Given the description of an element on the screen output the (x, y) to click on. 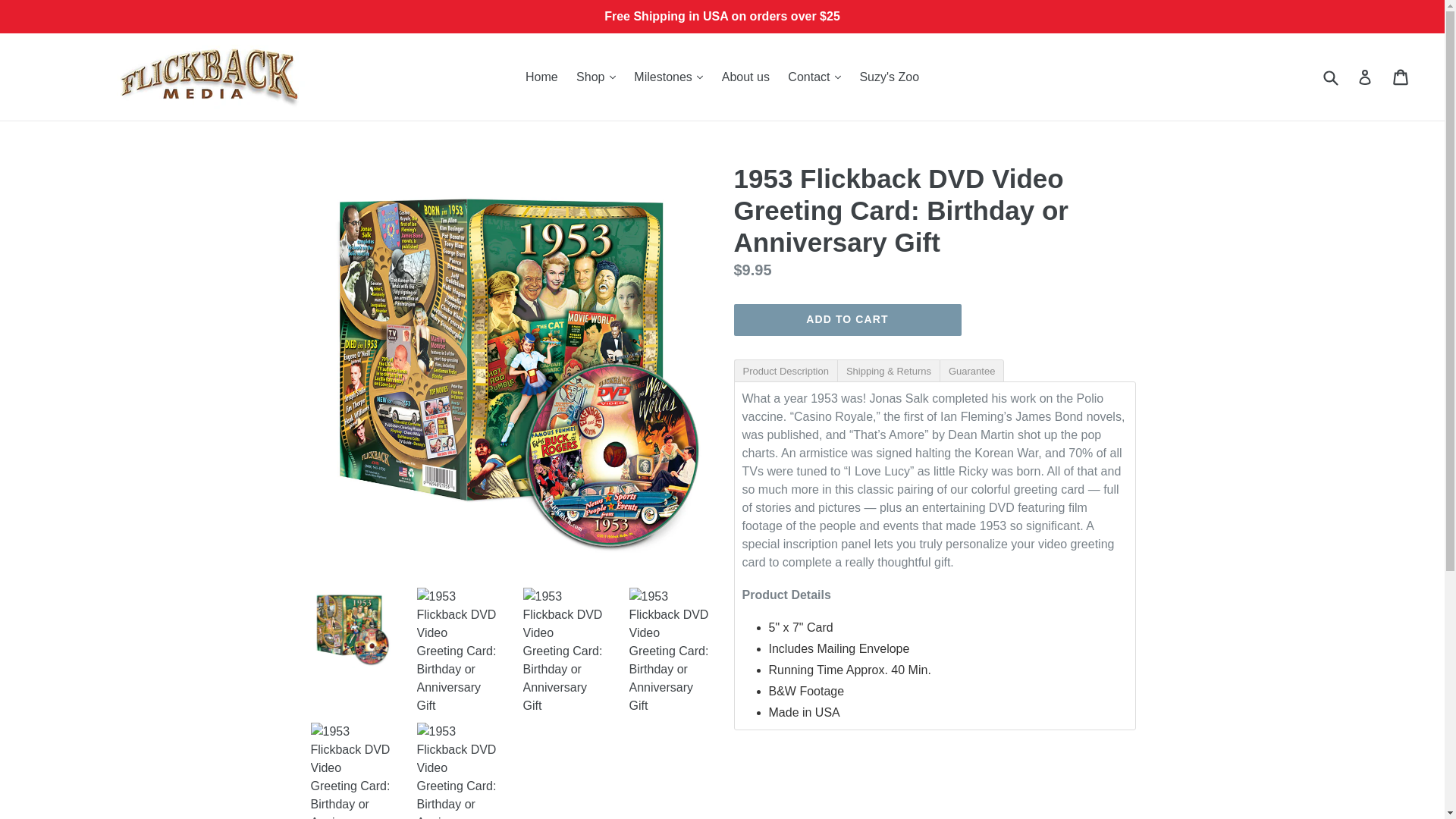
Home (542, 76)
